Given the description of an element on the screen output the (x, y) to click on. 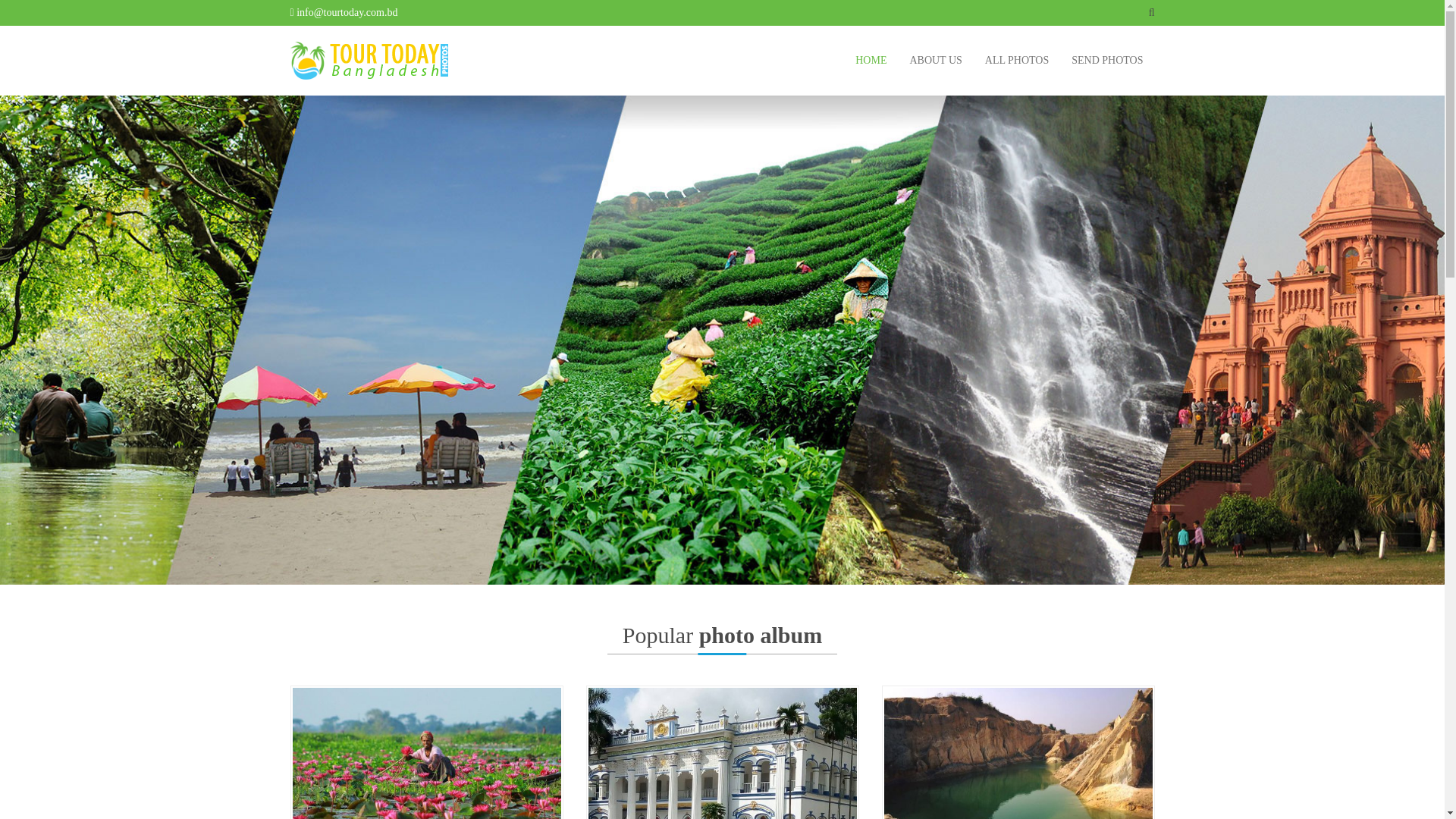
ALL PHOTOS Element type: text (1016, 60)
HOME Element type: text (870, 60)
ABOUT US Element type: text (934, 60)
SEND PHOTOS Element type: text (1107, 60)
